Given the description of an element on the screen output the (x, y) to click on. 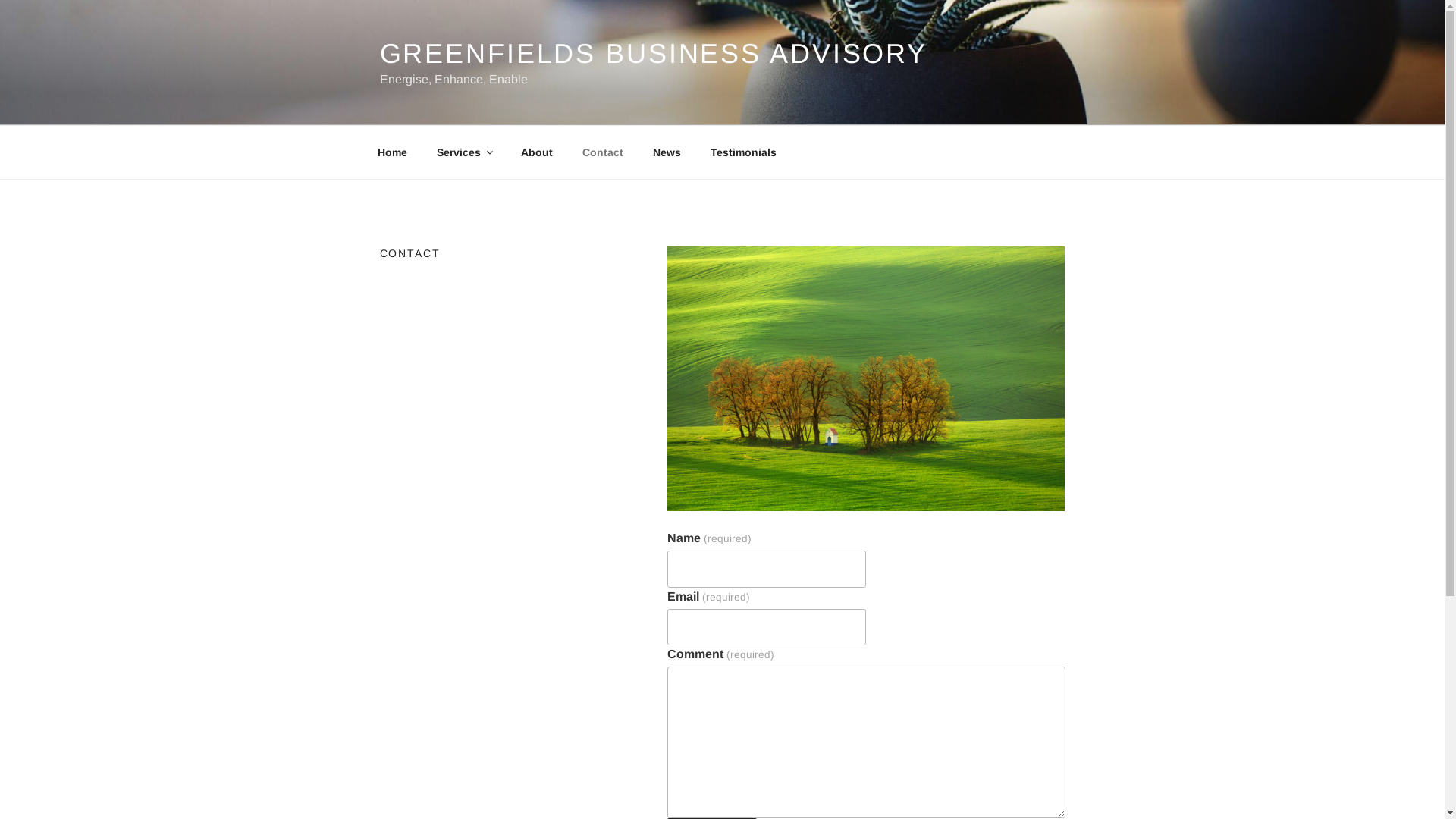
GREENFIELDS BUSINESS ADVISORY Element type: text (653, 53)
About Element type: text (537, 151)
Contact Element type: text (602, 151)
Testimonials Element type: text (743, 151)
Services Element type: text (463, 151)
Home Element type: text (392, 151)
News Element type: text (667, 151)
